Given the description of an element on the screen output the (x, y) to click on. 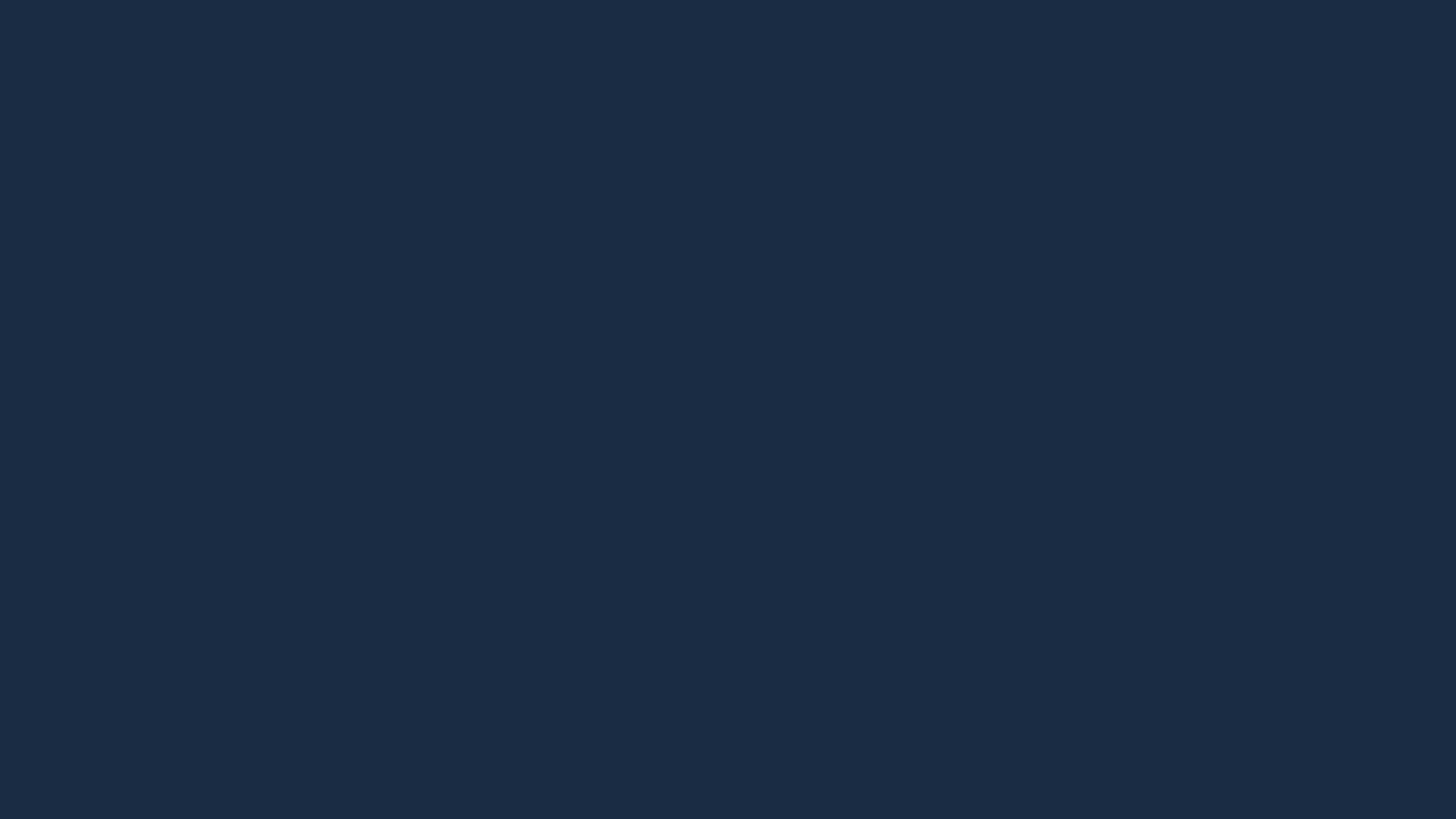
Subscribe Element type: text (1017, 373)
Foundry Digital Element type: text (874, 559)
ENTERTAINMENT Element type: text (809, 34)
COMPETITION Element type: text (629, 34)
PRIVACY POLICY Element type: text (969, 484)
Equine Productions Element type: text (699, 559)
CONTACT EQUITANA Element type: text (1090, 484)
SUBSCRIBE Element type: text (1105, 32)
EDUCATION Element type: text (715, 34)
EXHIBITION Element type: text (903, 34)
STAR PRESENTERS Element type: text (1001, 34)
